Given the description of an element on the screen output the (x, y) to click on. 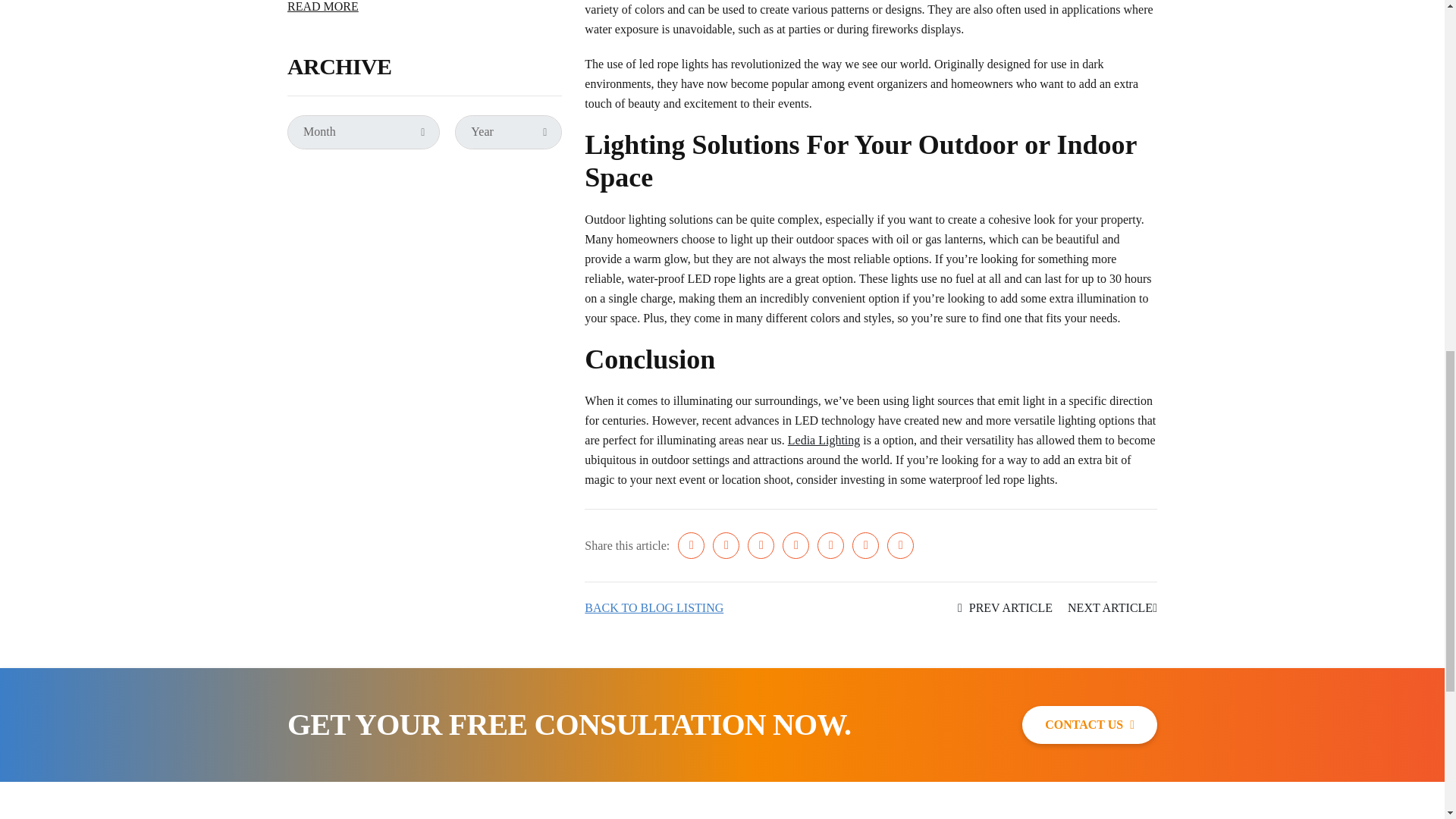
Ledia Lighting (823, 440)
